Given the description of an element on the screen output the (x, y) to click on. 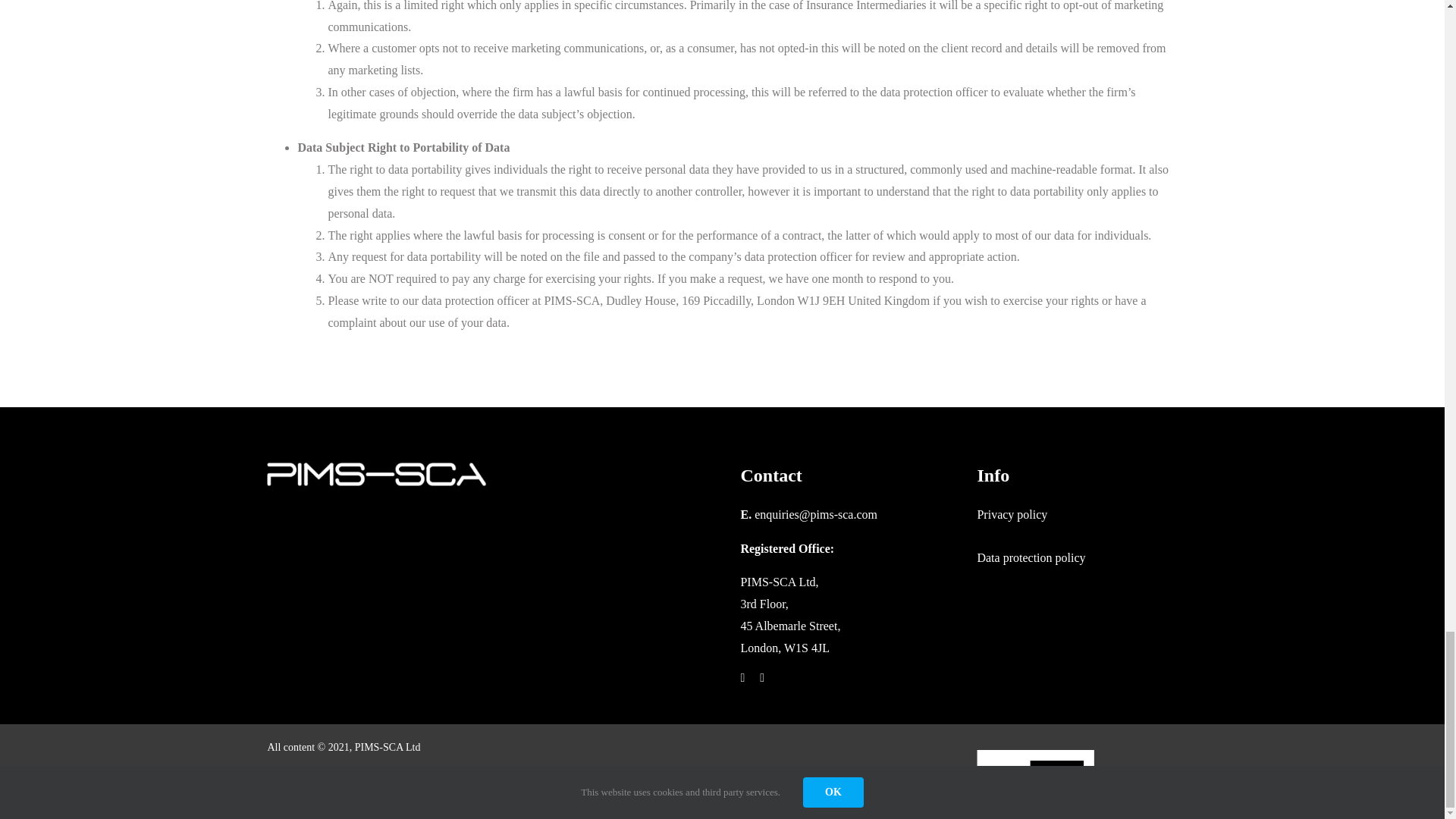
PIMS-SCA Ltd (387, 747)
Data protection policy (1030, 557)
Financial Conduct Authority (423, 780)
Privacy policy (1011, 513)
